Given the description of an element on the screen output the (x, y) to click on. 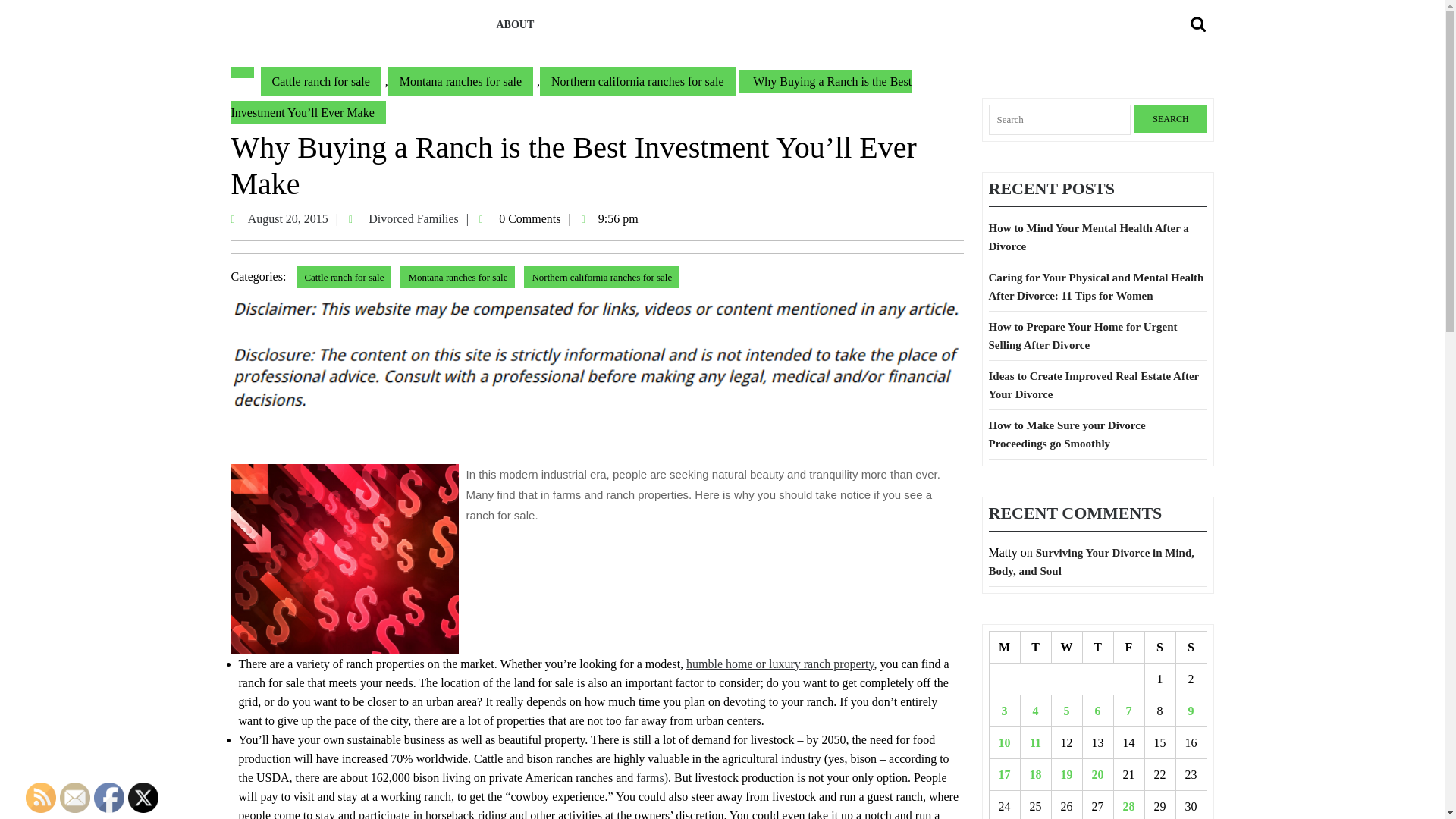
17 (1003, 774)
6 (1098, 710)
Northern california ranches for sale (601, 277)
5 (419, 218)
ABOUT (1066, 710)
18 (514, 24)
Search (1035, 774)
How to Prepare Your Home for Urgent Selling After Divorce (1200, 23)
Montana ranches for sale (1082, 336)
Search (460, 81)
Montana ranches for sale (1170, 118)
3 (457, 277)
Cattle ranch for sale (1003, 710)
